Given the description of an element on the screen output the (x, y) to click on. 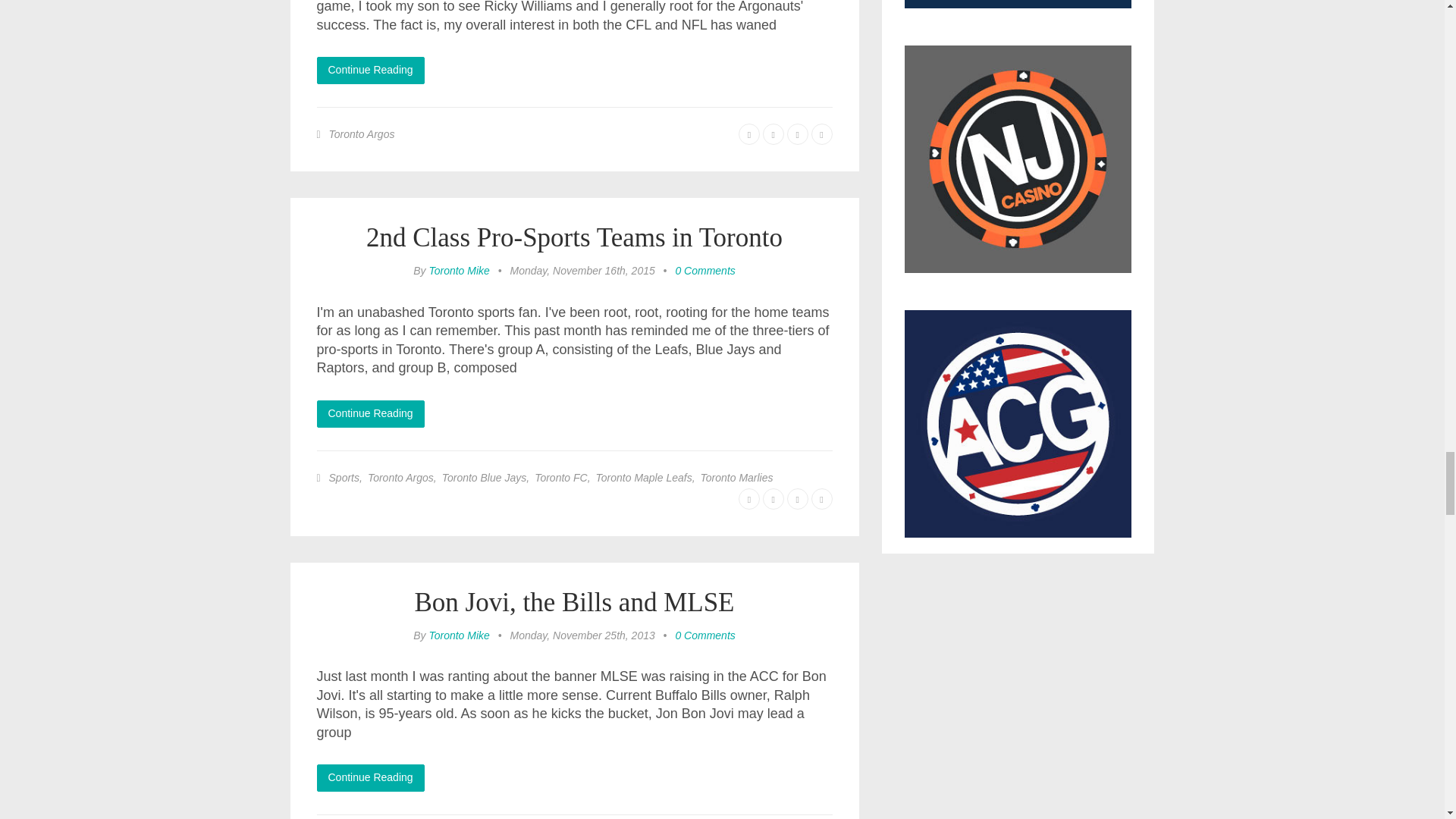
canada casino (1017, 11)
nj casino (1017, 166)
acg casino (1017, 423)
